Given the description of an element on the screen output the (x, y) to click on. 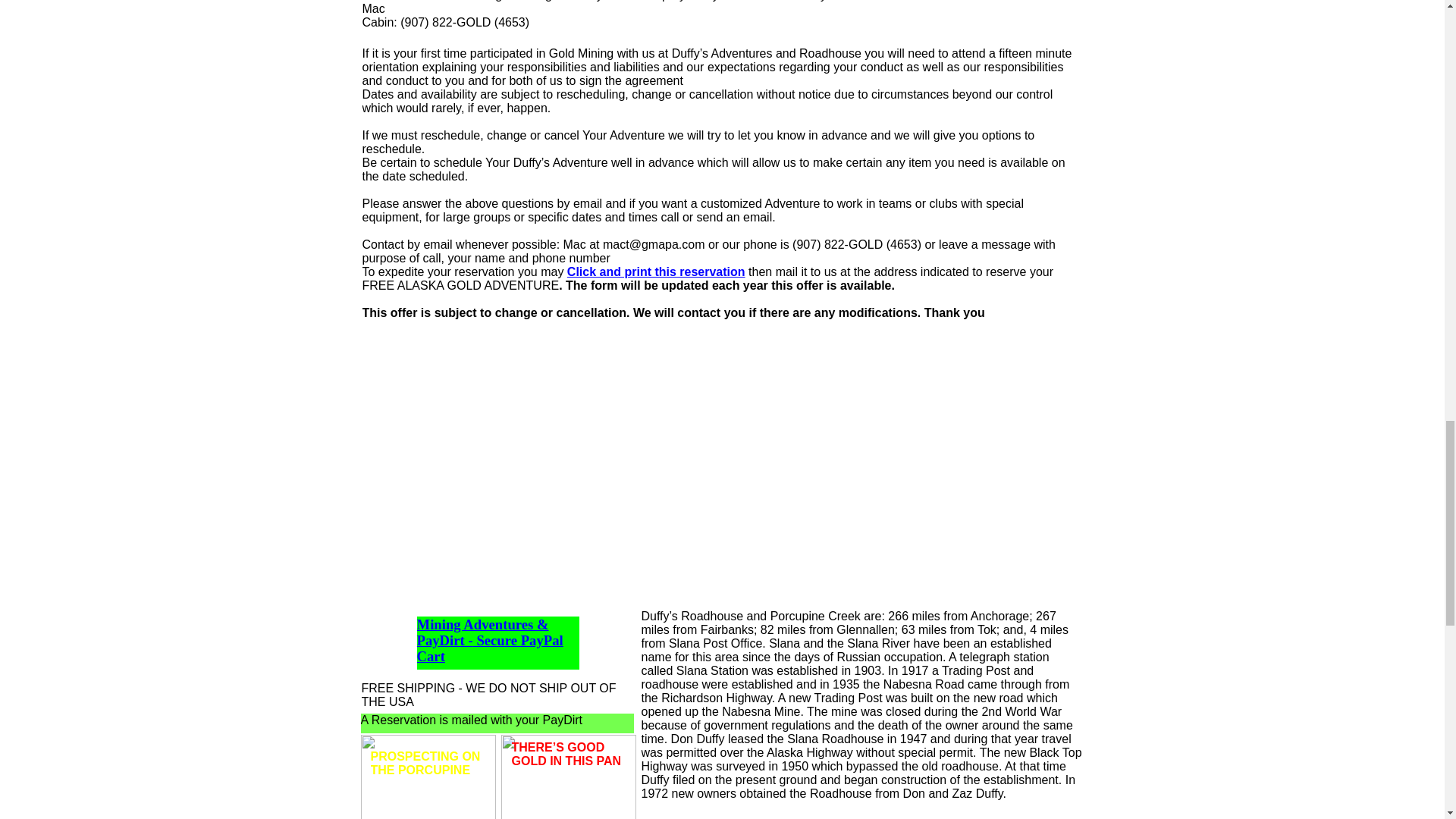
Click and print this reservation (656, 271)
